Given the description of an element on the screen output the (x, y) to click on. 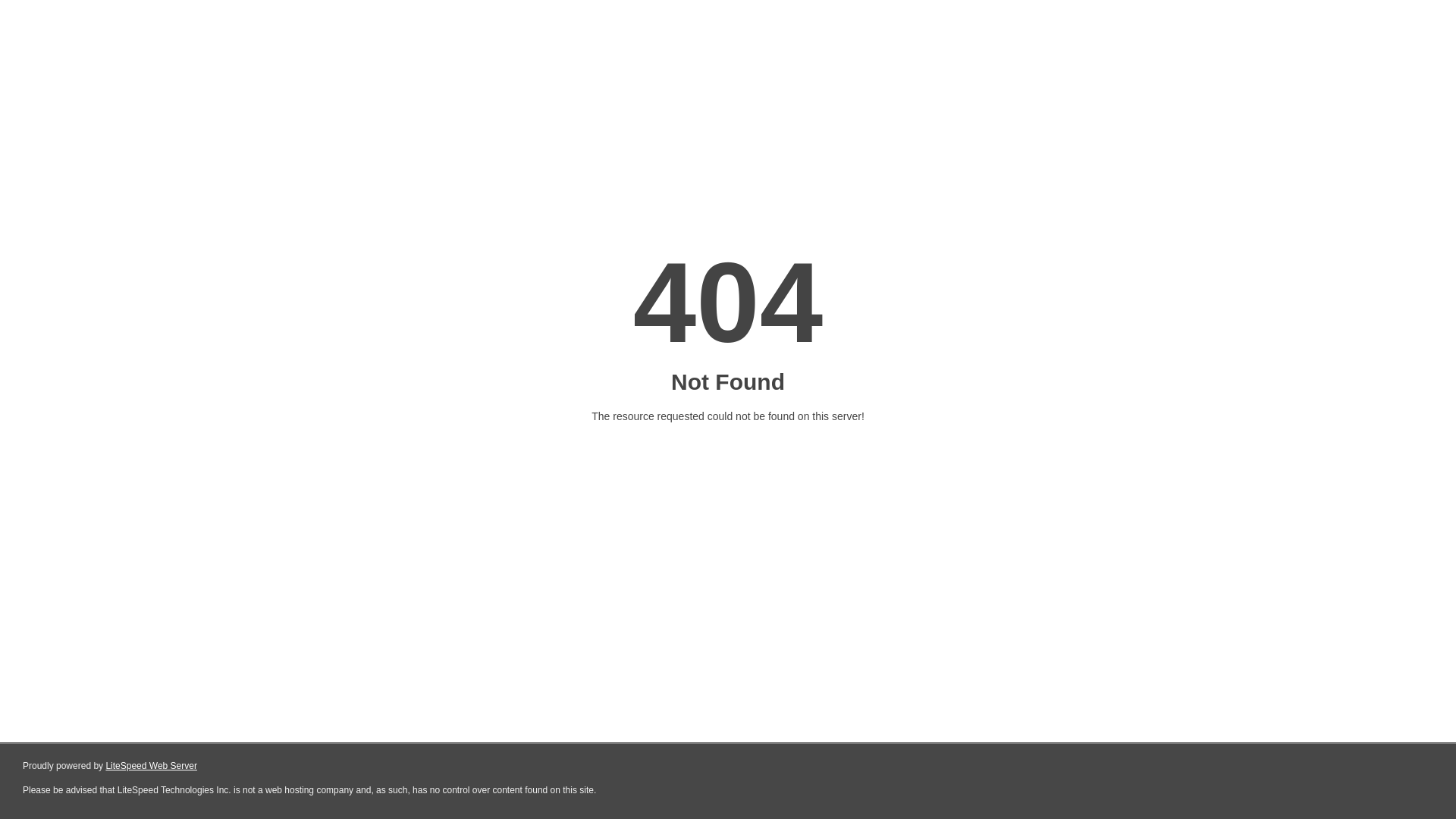
LiteSpeed Web Server Element type: text (151, 765)
